Given the description of an element on the screen output the (x, y) to click on. 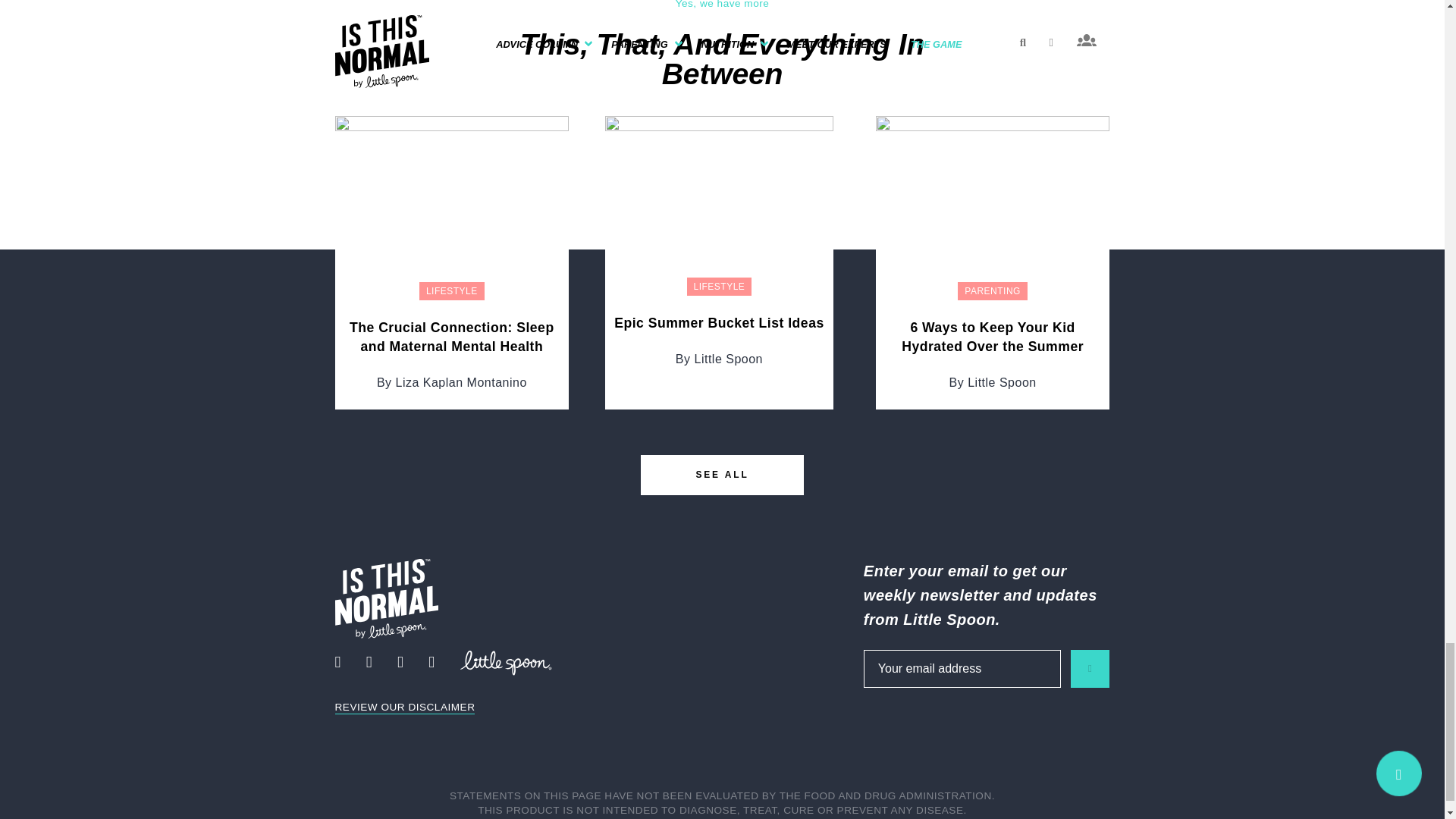
The Crucial Connection: Sleep and Maternal Mental Health (451, 203)
